Given the description of an element on the screen output the (x, y) to click on. 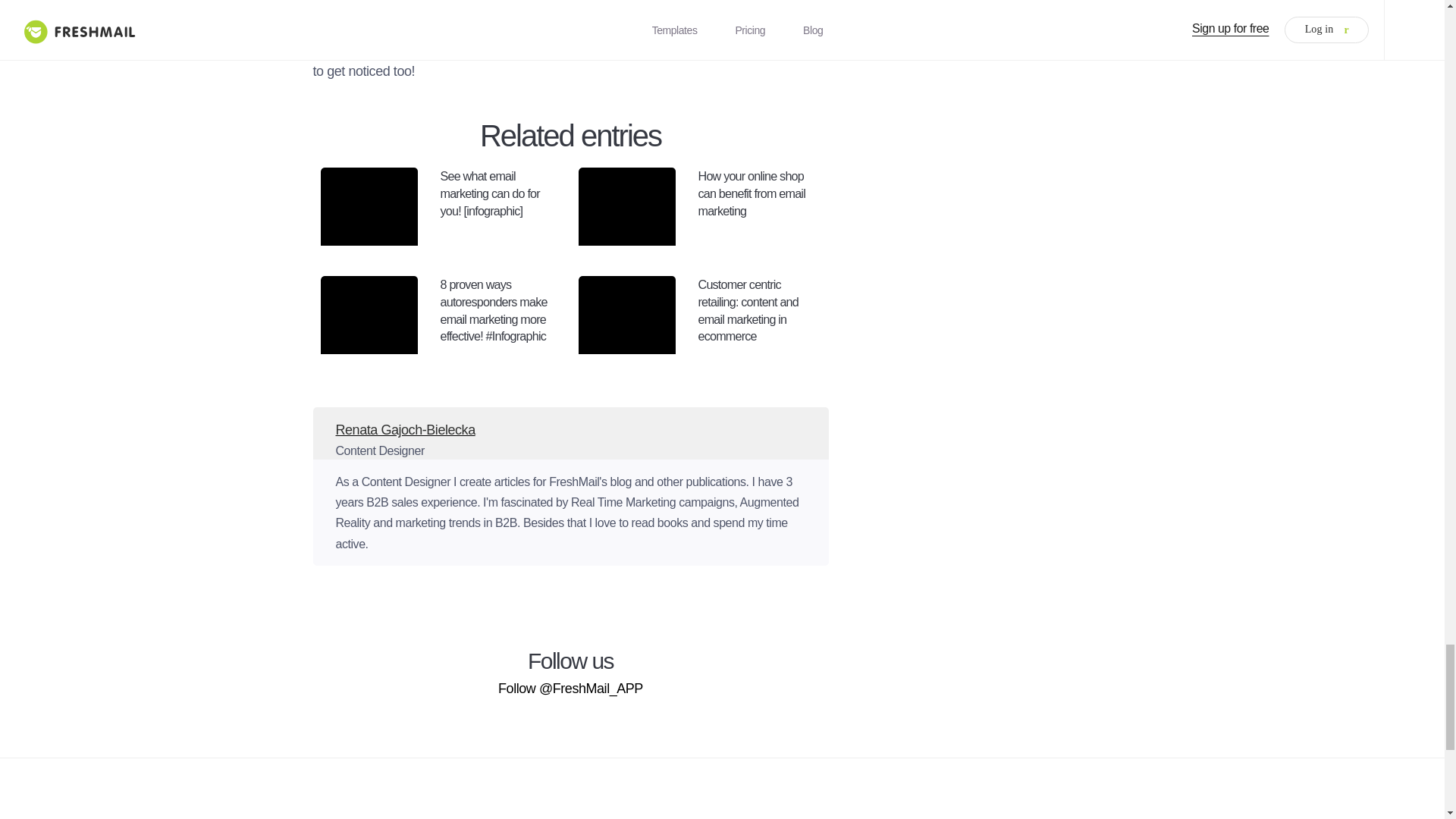
Renata Gajoch-Bielecka (570, 422)
How your online shop can benefit from email marketing (699, 213)
